Given the description of an element on the screen output the (x, y) to click on. 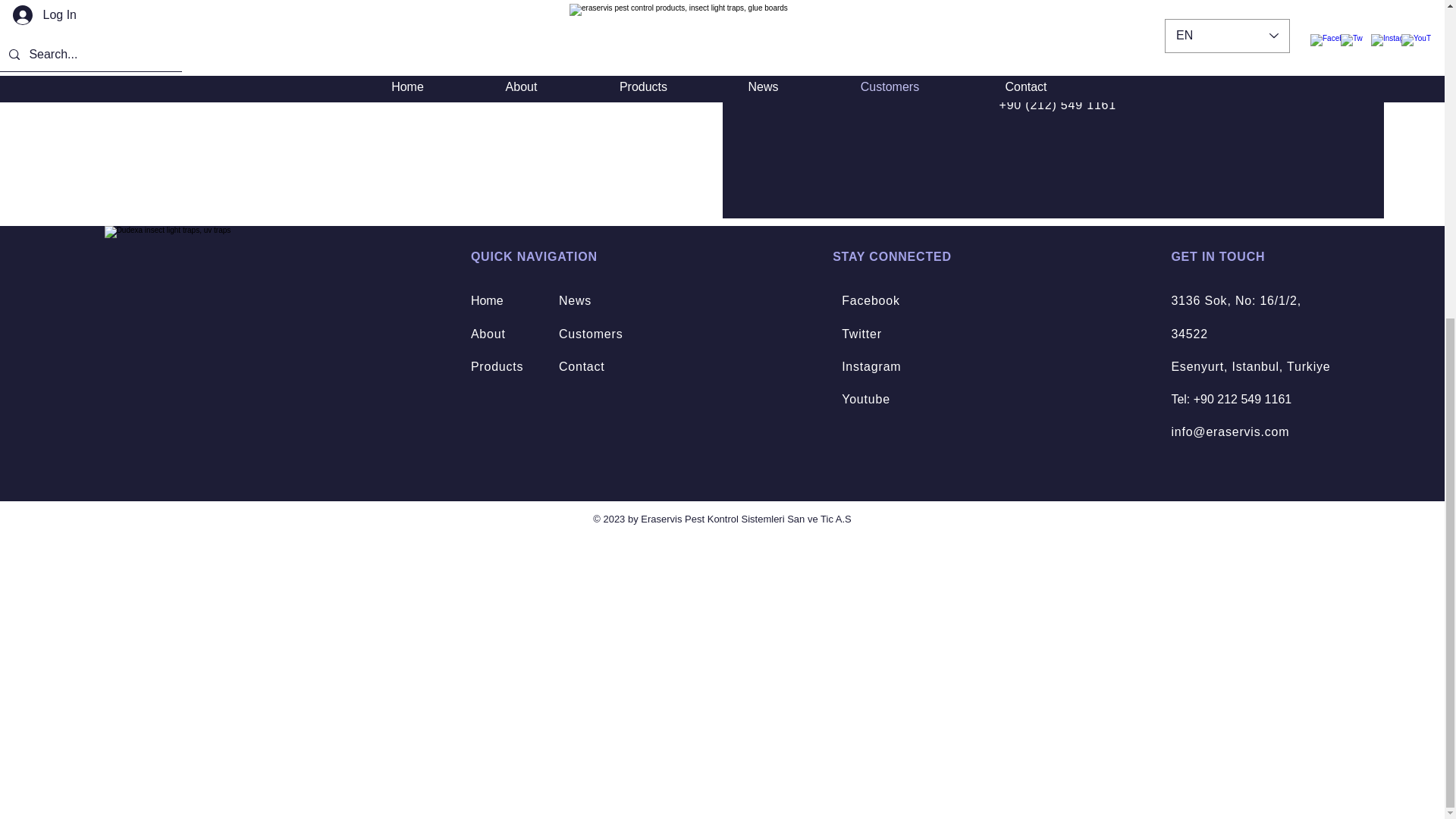
News (575, 300)
Products (497, 366)
Home (486, 300)
Youtube (865, 399)
Facebook (870, 300)
Customers (591, 333)
Twitter (861, 333)
About (487, 333)
Instagram (871, 366)
Contact (582, 366)
